Given the description of an element on the screen output the (x, y) to click on. 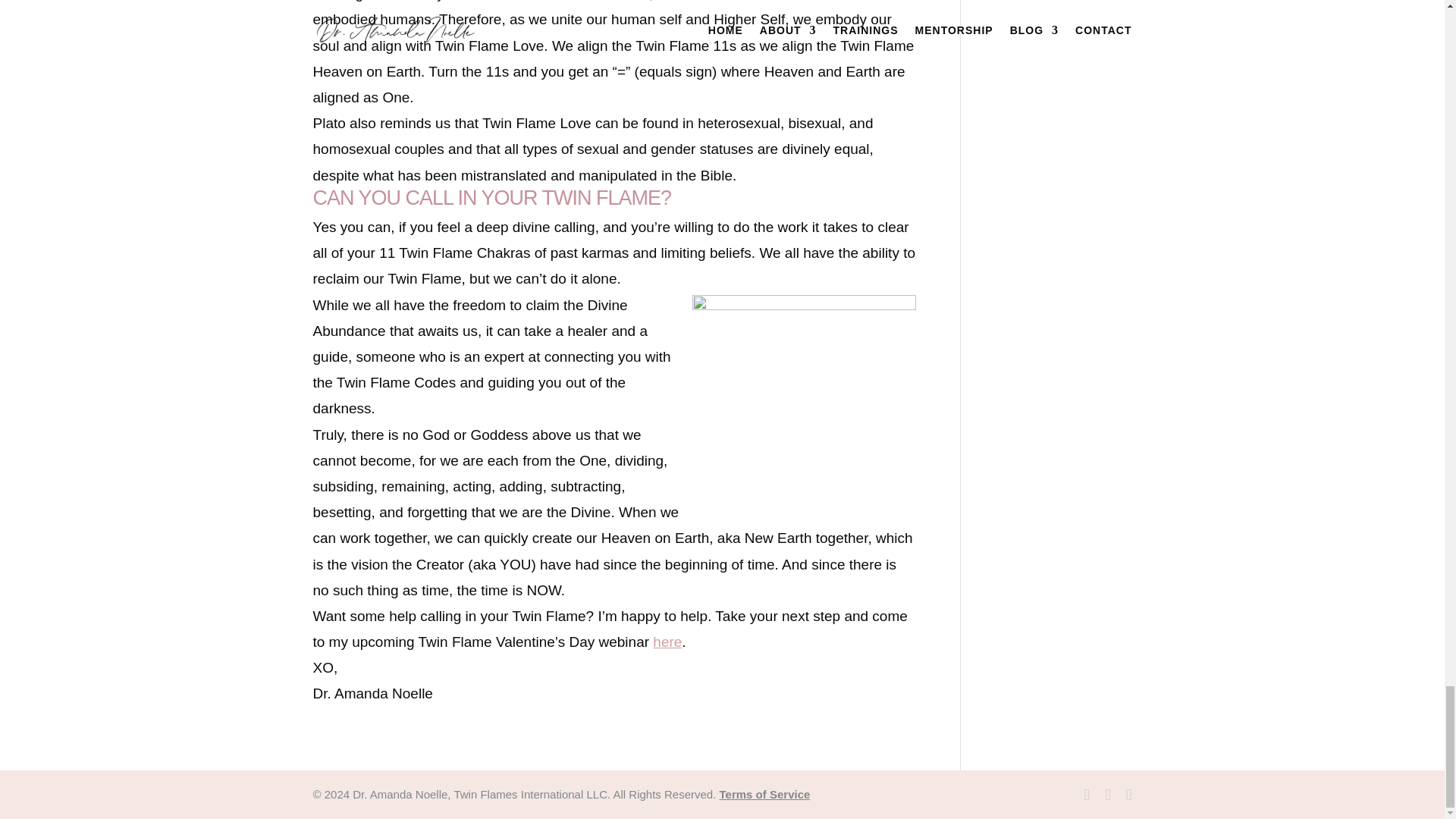
here (666, 641)
